Given the description of an element on the screen output the (x, y) to click on. 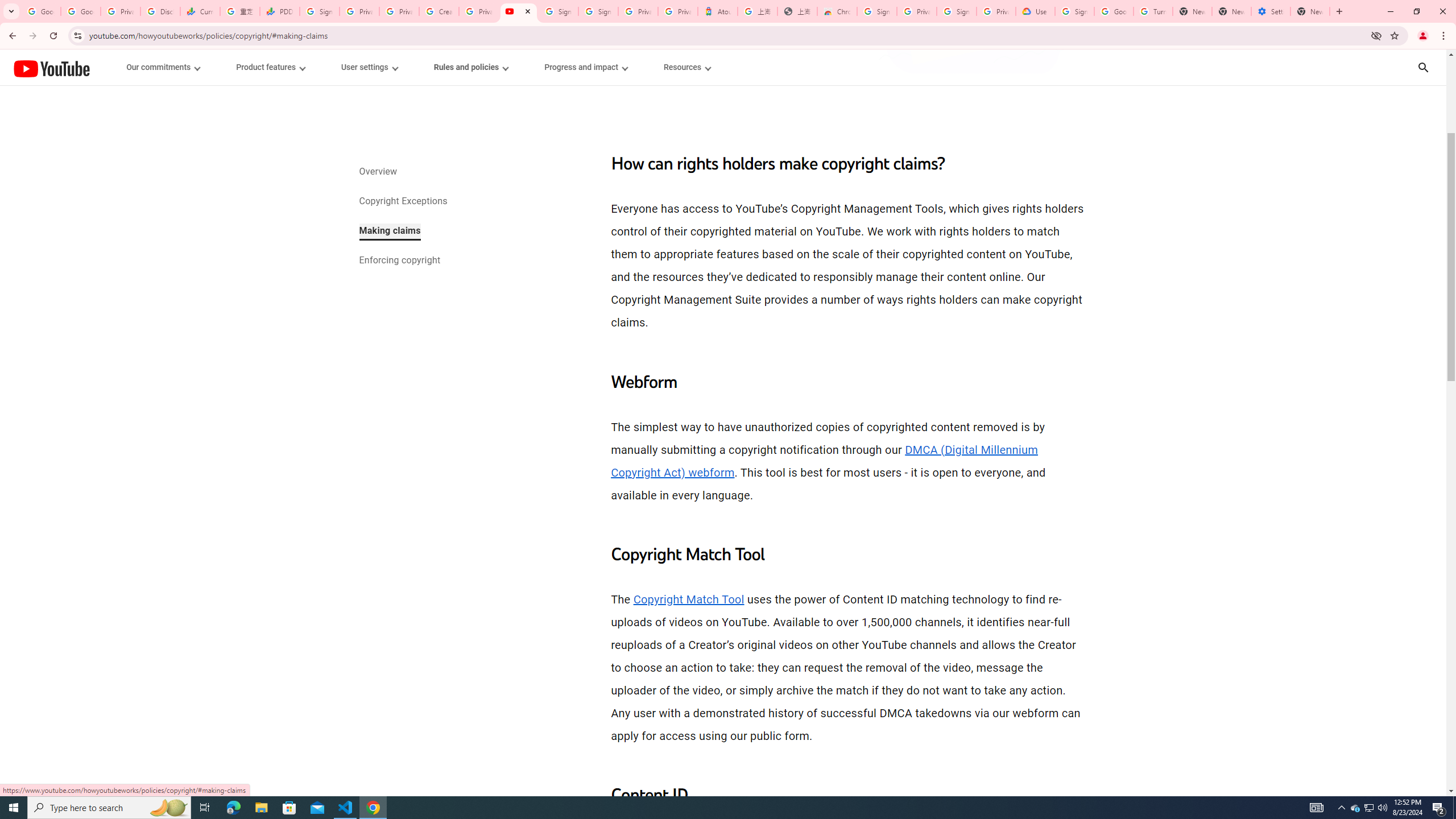
Progress and impact menupopup (585, 67)
PDD Holdings Inc - ADR (PDD) Price & News - Google Finance (279, 11)
Making claims (389, 231)
User settings menupopup (368, 67)
How YouTube Works (51, 66)
YouTube (51, 68)
